Given the description of an element on the screen output the (x, y) to click on. 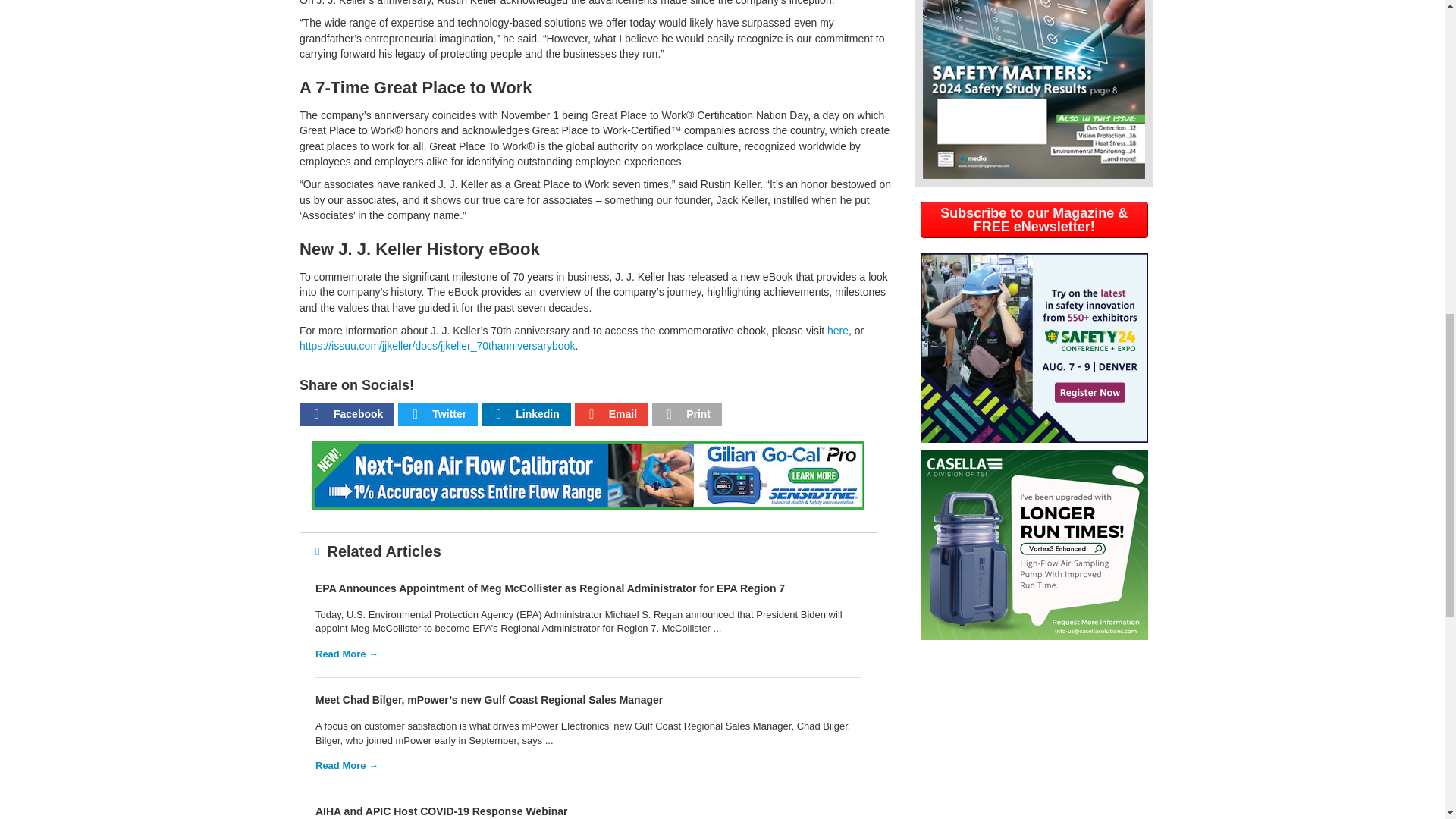
AIHA and APIC Host COVID-19 Response Webinar (441, 811)
